Given the description of an element on the screen output the (x, y) to click on. 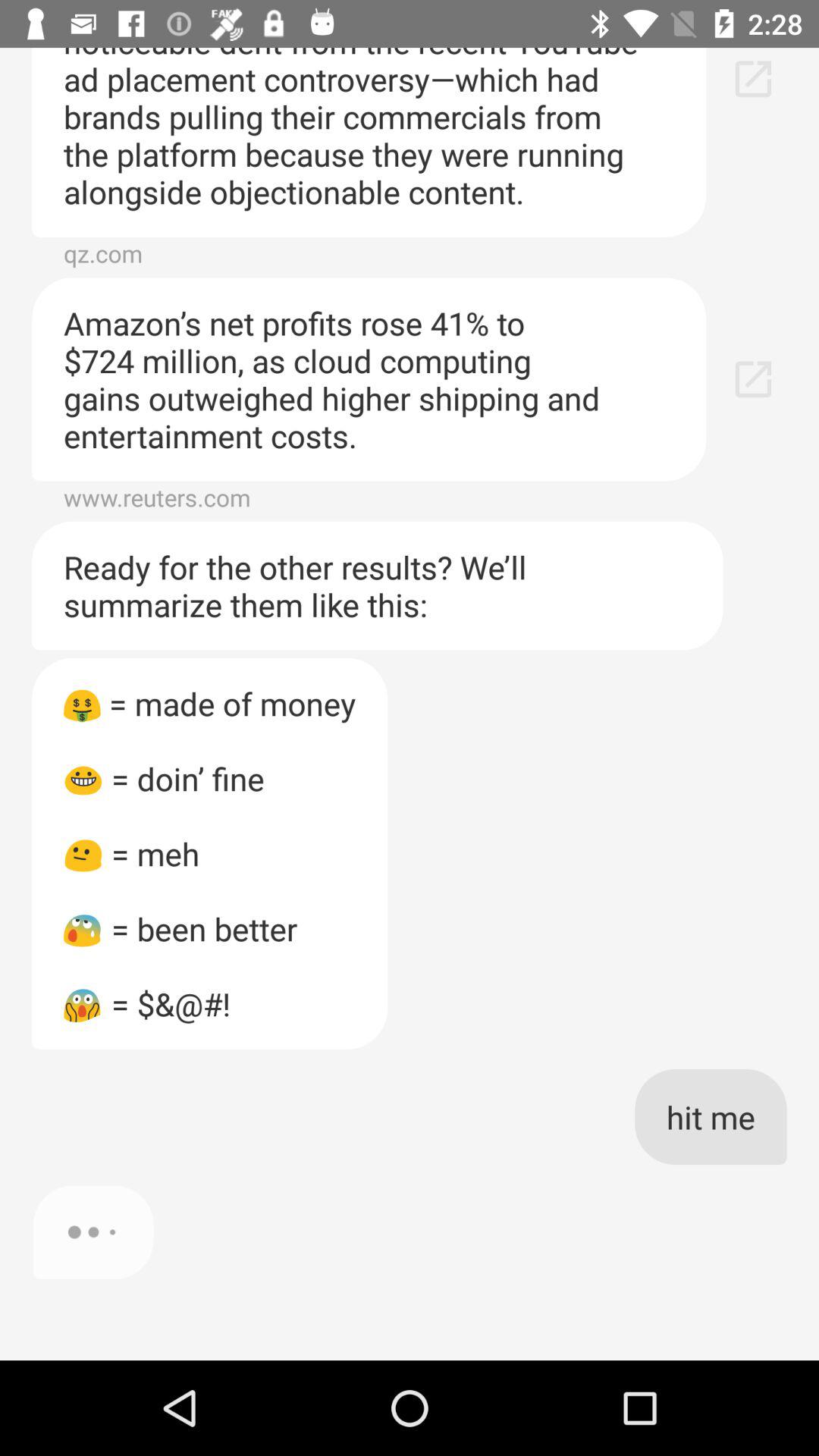
choose alphabet posted earnings icon (368, 142)
